Given the description of an element on the screen output the (x, y) to click on. 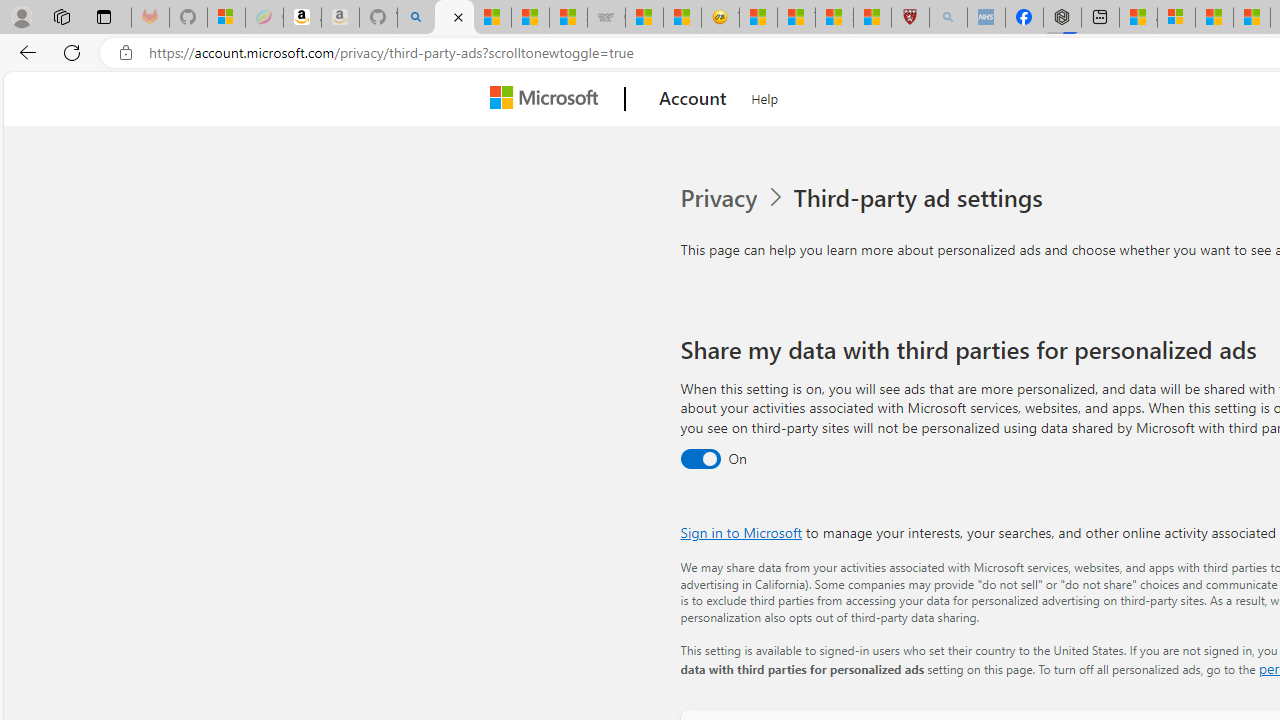
Third-party ad settings (922, 197)
Sign in to Microsoft (740, 532)
Account (692, 99)
12 Popular Science Lies that Must be Corrected (871, 17)
Recipes - MSN (757, 17)
Robert H. Shmerling, MD - Harvard Health (910, 17)
